Given the description of an element on the screen output the (x, y) to click on. 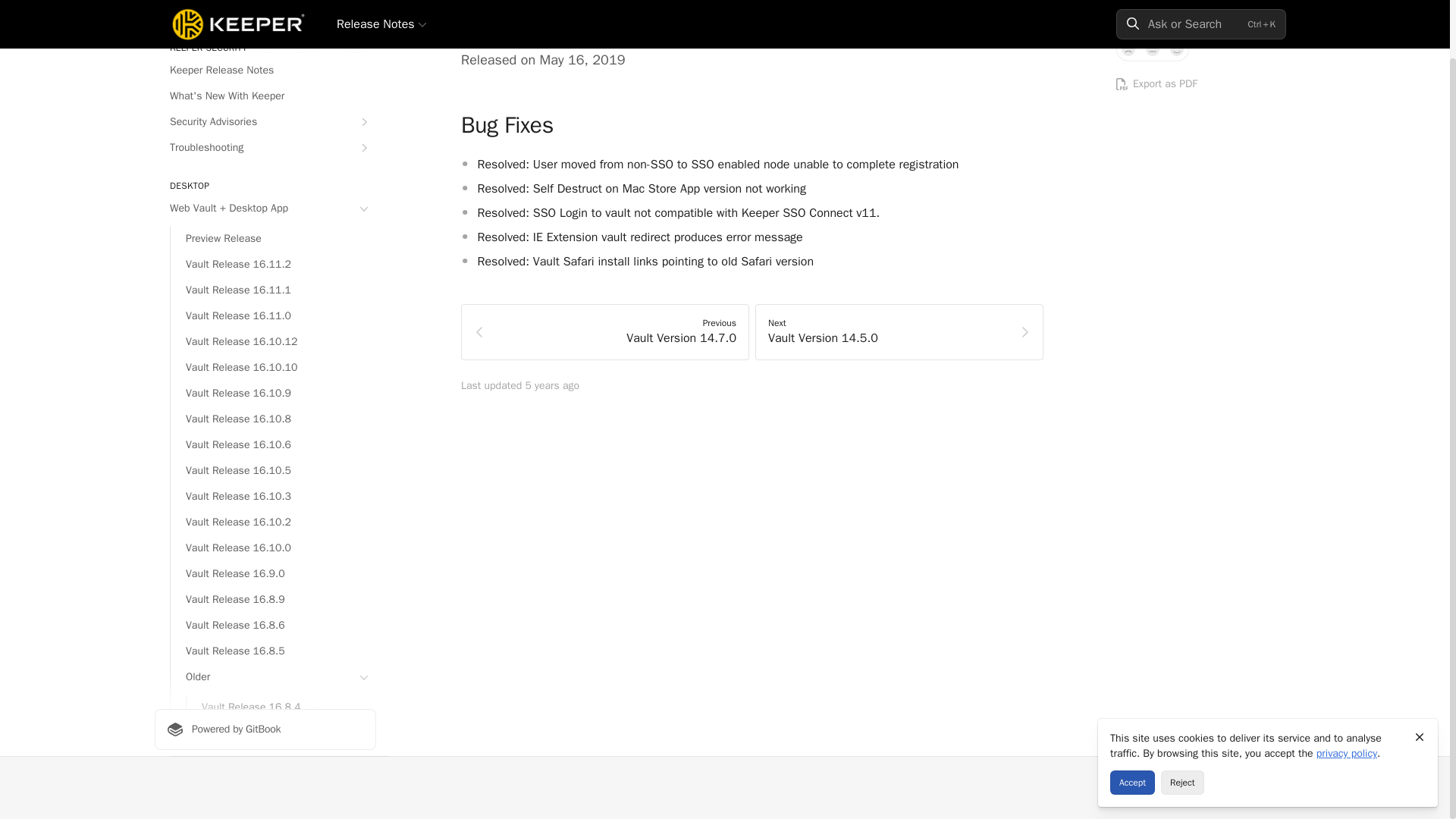
Latest Updates from Keeper (264, 11)
Vault Release 16.10.9 (272, 393)
Yes, it was! (1176, 48)
Vault Release 16.10.10 (272, 367)
No (1128, 48)
Vault Release 16.11.0 (272, 315)
Security Advisories (264, 121)
Vault Release 16.11.2 (272, 264)
Vault Release 16.11.1 (272, 290)
Keeper Release Notes (264, 70)
